Given the description of an element on the screen output the (x, y) to click on. 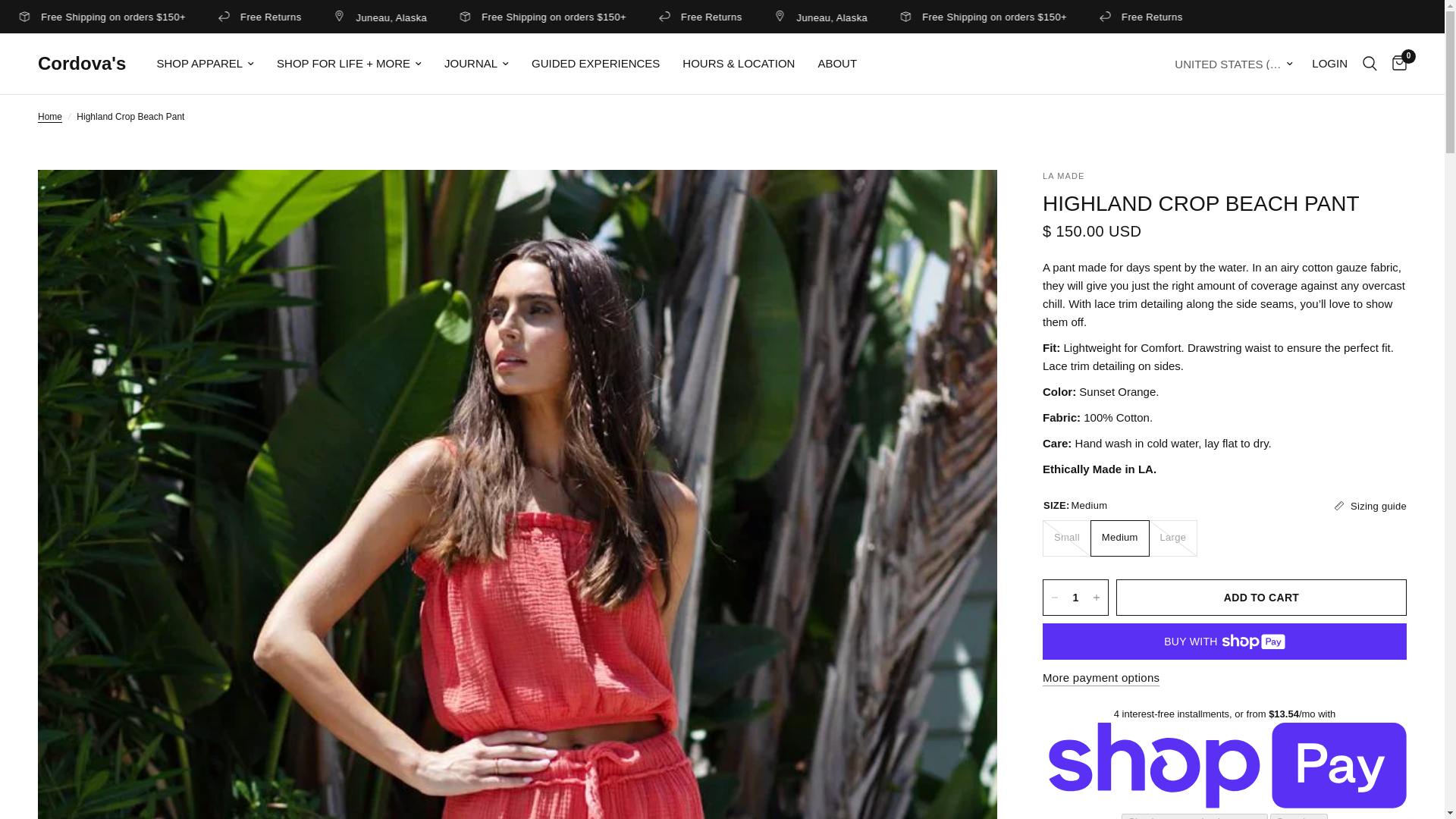
1 (1074, 597)
Juneau, Alaska (978, 16)
Juneau, Alaska (98, 16)
Juneau, Alaska (538, 16)
